Given the description of an element on the screen output the (x, y) to click on. 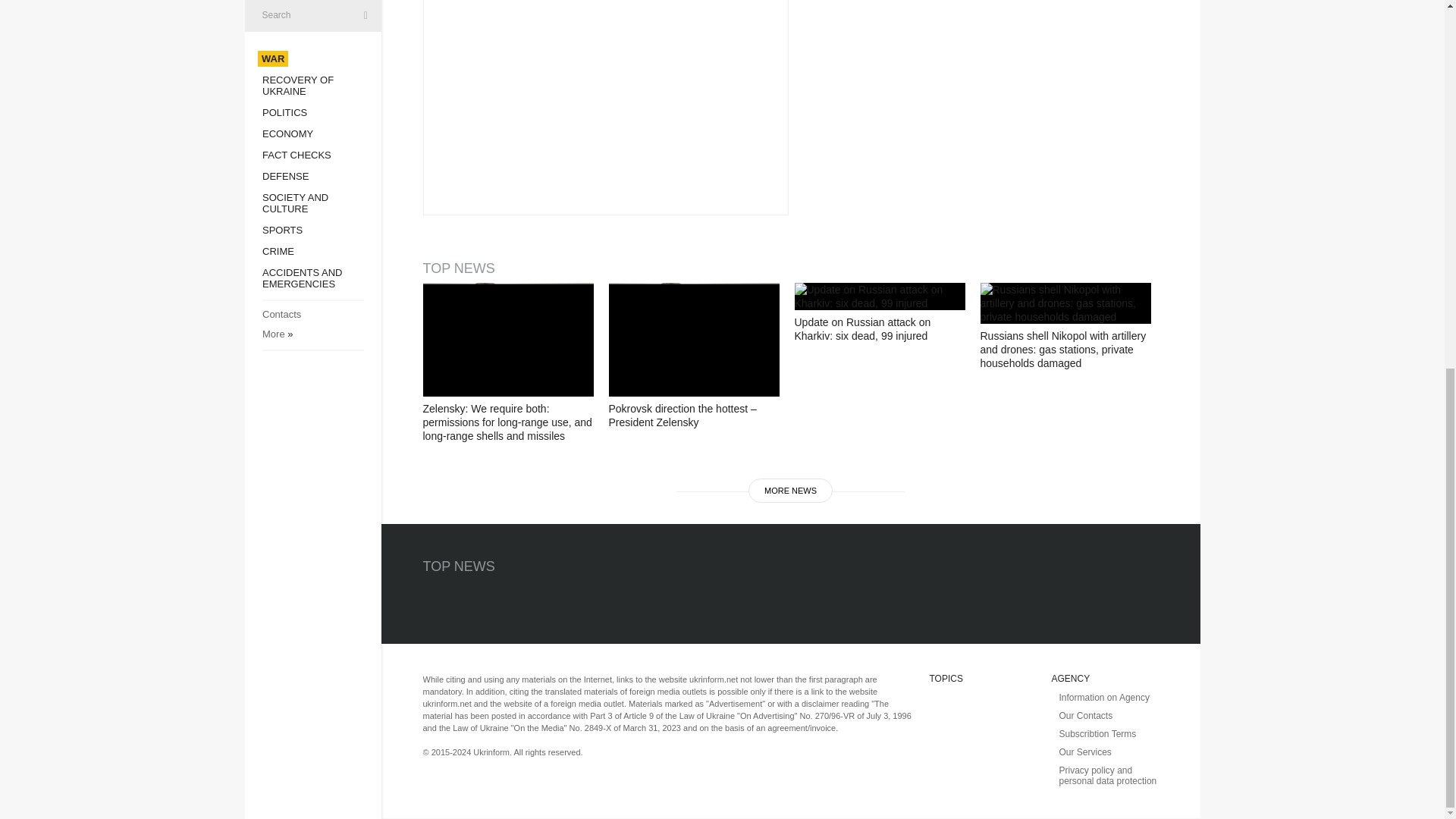
Update on Russian attack on Kharkiv: six dead, 99 injured  (879, 296)
